Given the description of an element on the screen output the (x, y) to click on. 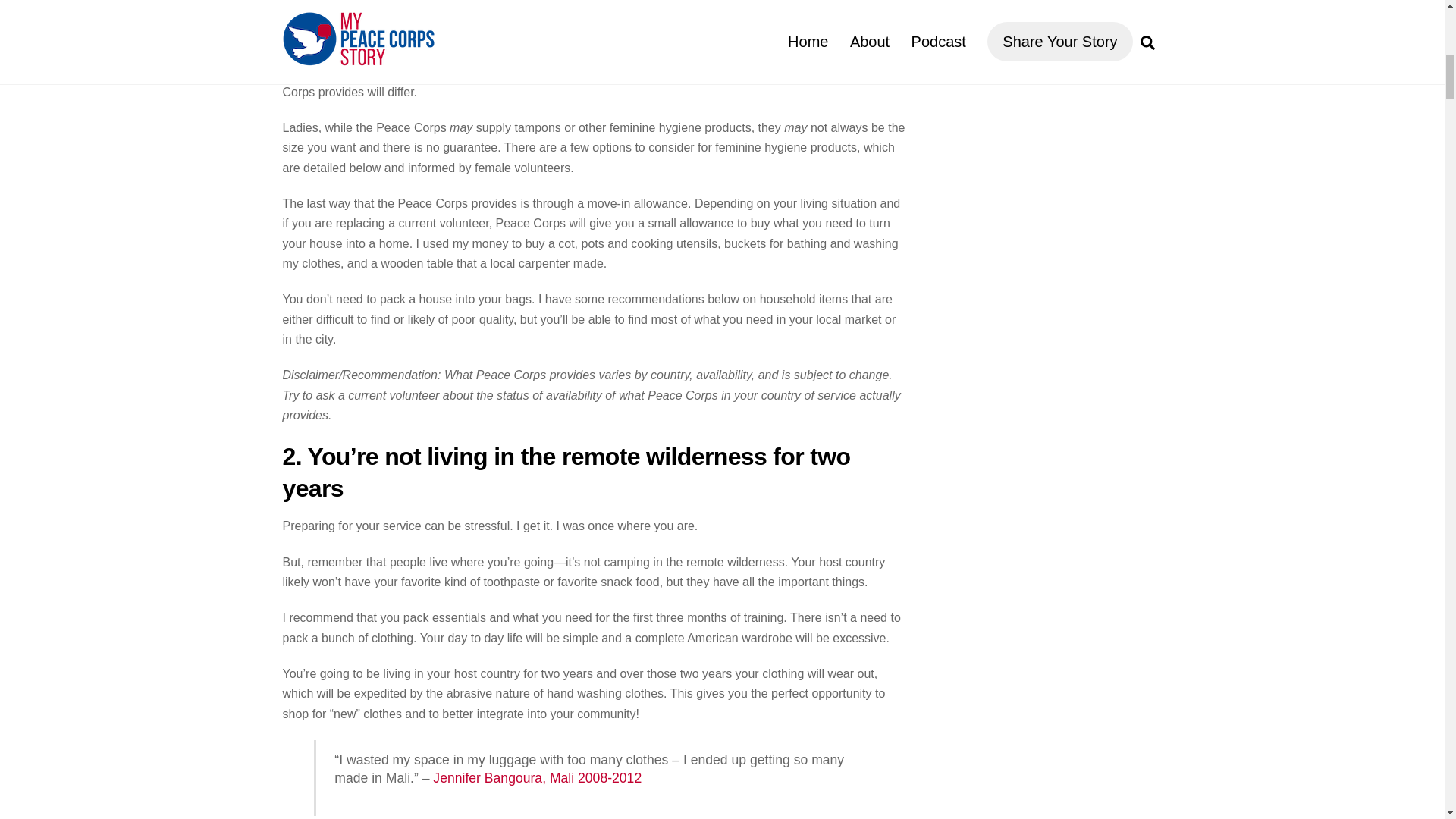
Jennifer Bangoura, Mali 2008-2012 (537, 777)
